Given the description of an element on the screen output the (x, y) to click on. 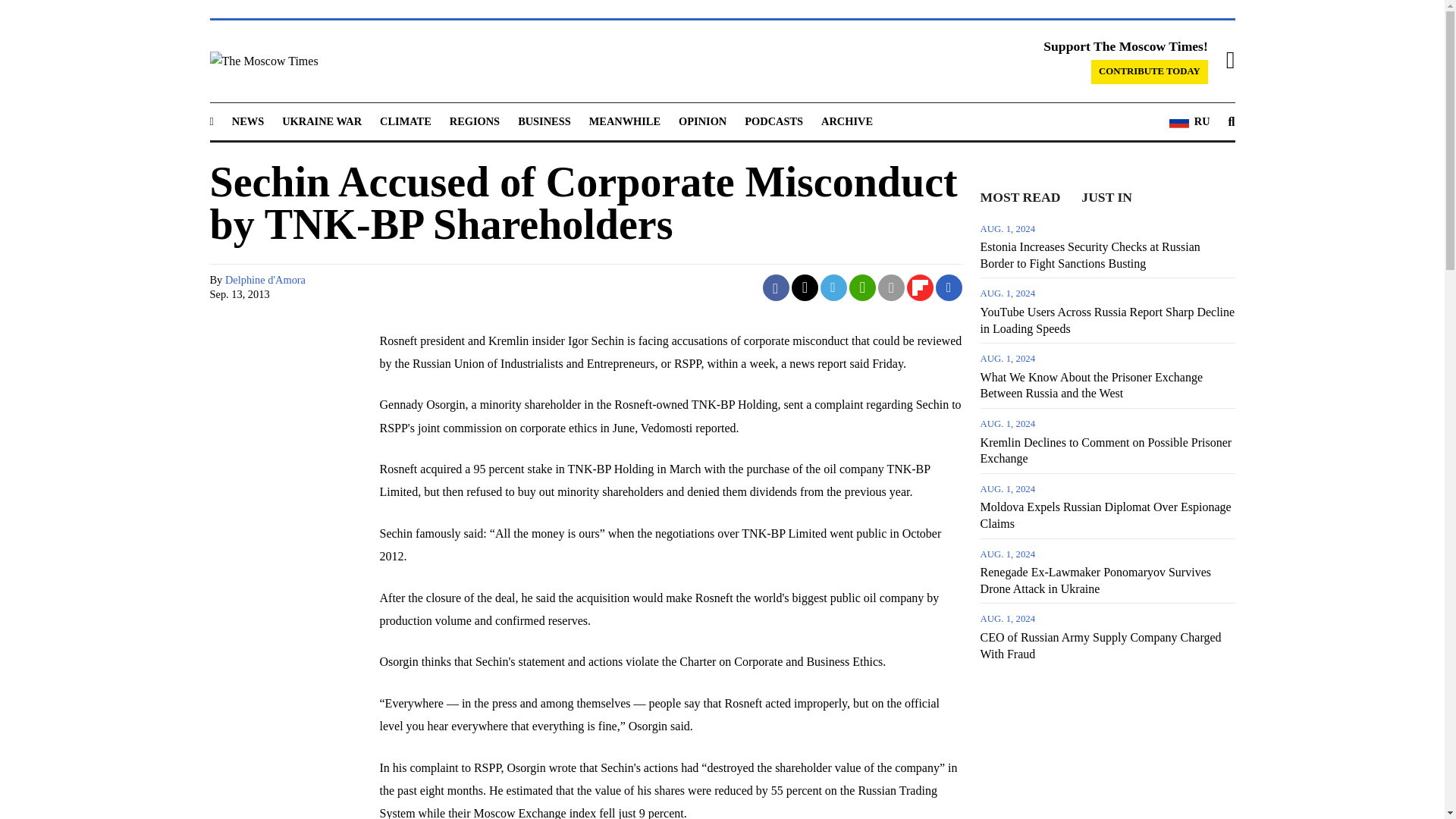
Delphine d'Amora (265, 279)
PODCASTS (773, 121)
ARCHIVE (846, 121)
REGIONS (474, 121)
CONTRIBUTE TODAY (1149, 71)
UKRAINE WAR (321, 121)
The Moscow Times - Independent News from Russia (364, 61)
Share on Facebook (775, 287)
Share on Twitter (805, 287)
NEWS (247, 121)
CLIMATE (405, 121)
RU (1189, 121)
Share on Telegram (834, 287)
MEANWHILE (625, 121)
